Given the description of an element on the screen output the (x, y) to click on. 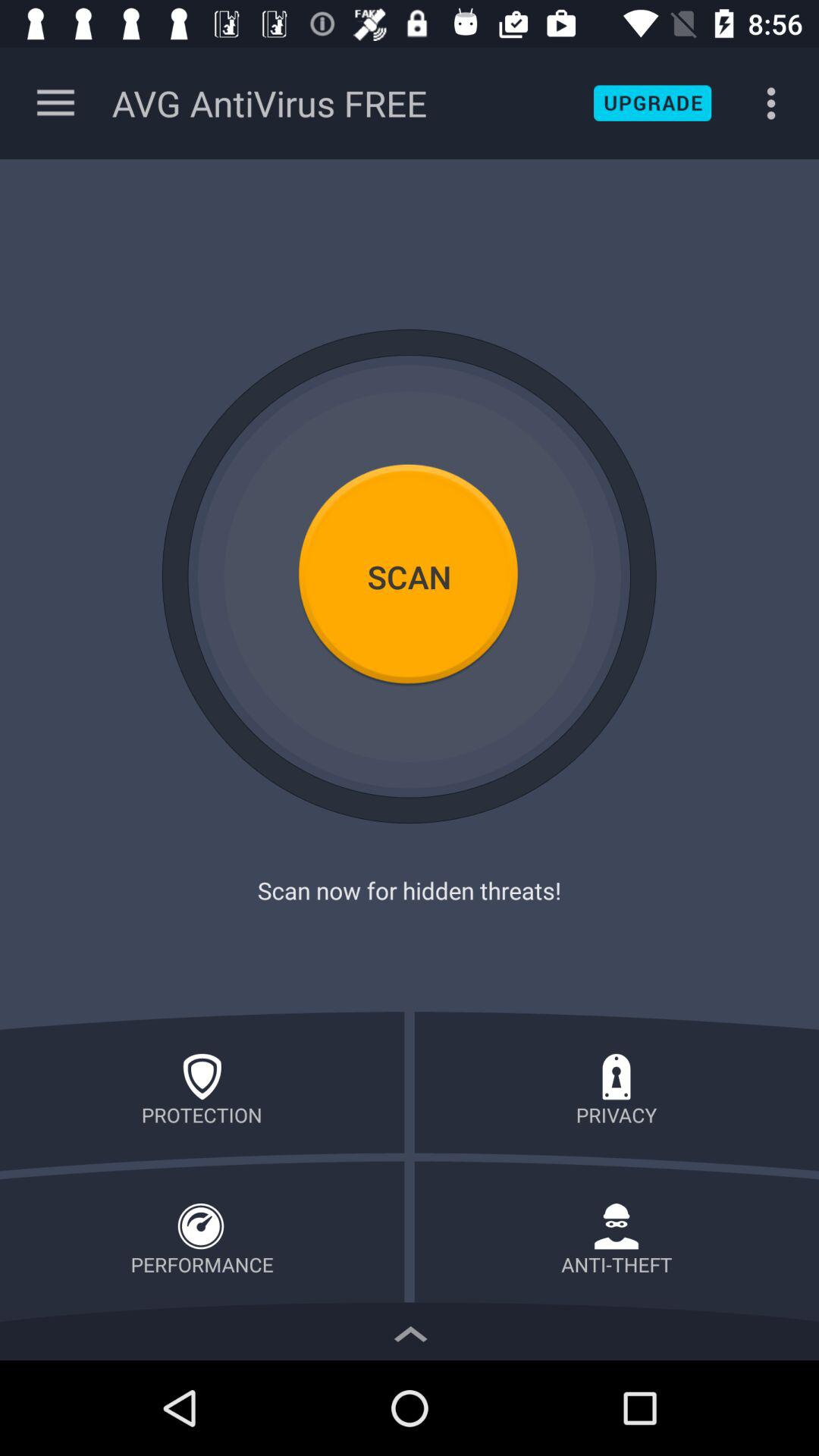
upgrade application to premium version (652, 103)
